Given the description of an element on the screen output the (x, y) to click on. 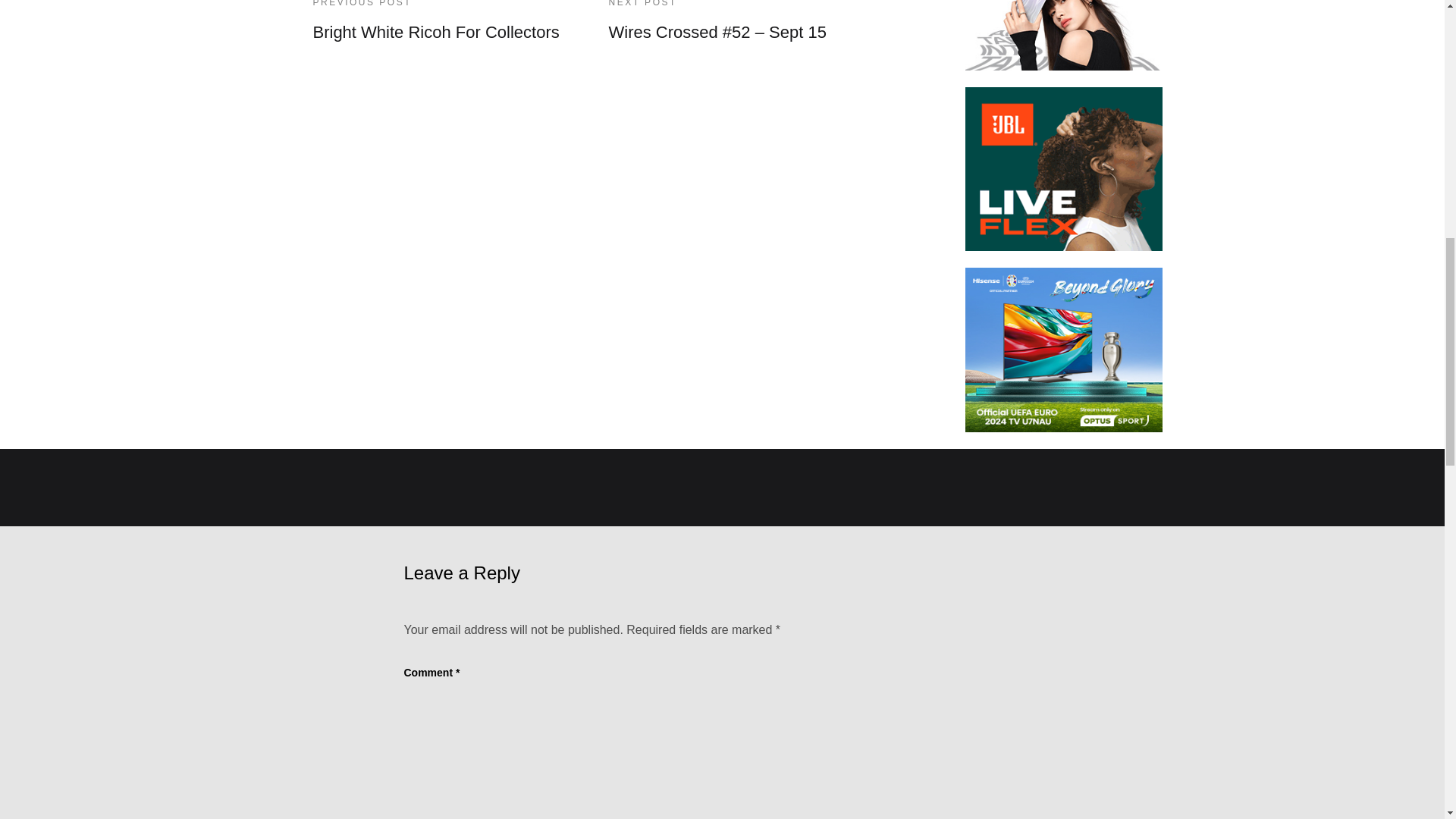
Bright White Ricoh For Collectors (436, 31)
